Given the description of an element on the screen output the (x, y) to click on. 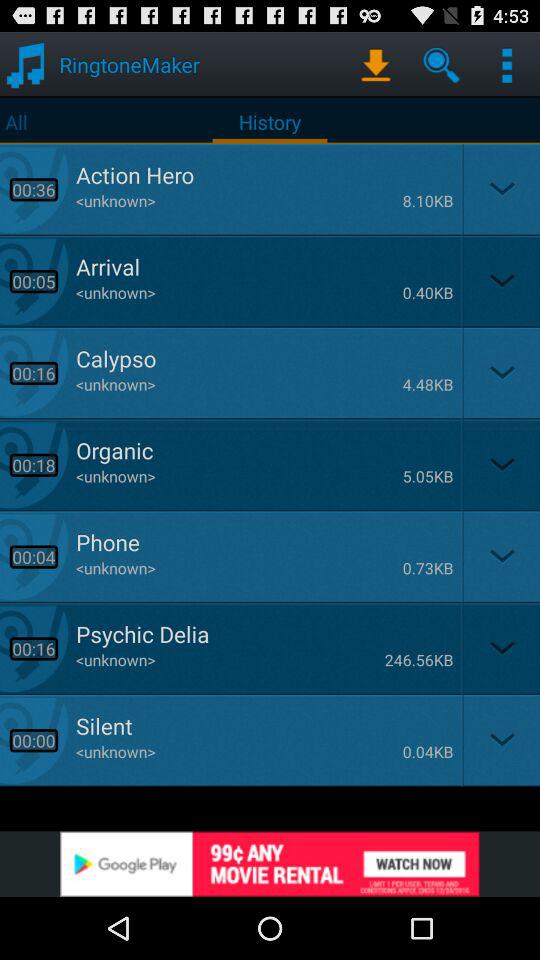
advertisement image (270, 864)
